Given the description of an element on the screen output the (x, y) to click on. 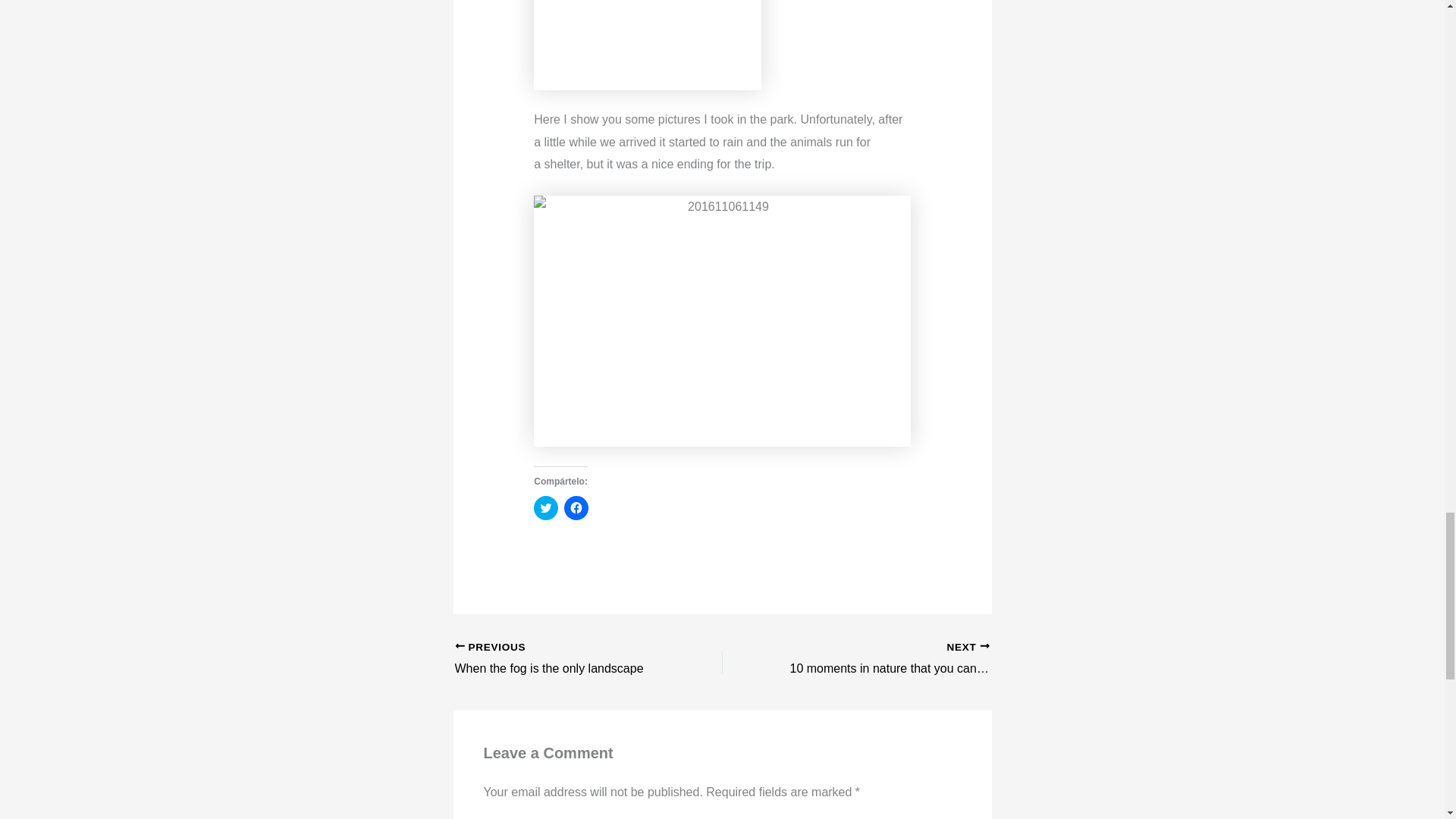
Click to share on Facebook (882, 659)
When the fog is the only landscape (576, 508)
Click to share on Twitter (561, 659)
10 moments in nature that you can not miss (545, 508)
